Given the description of an element on the screen output the (x, y) to click on. 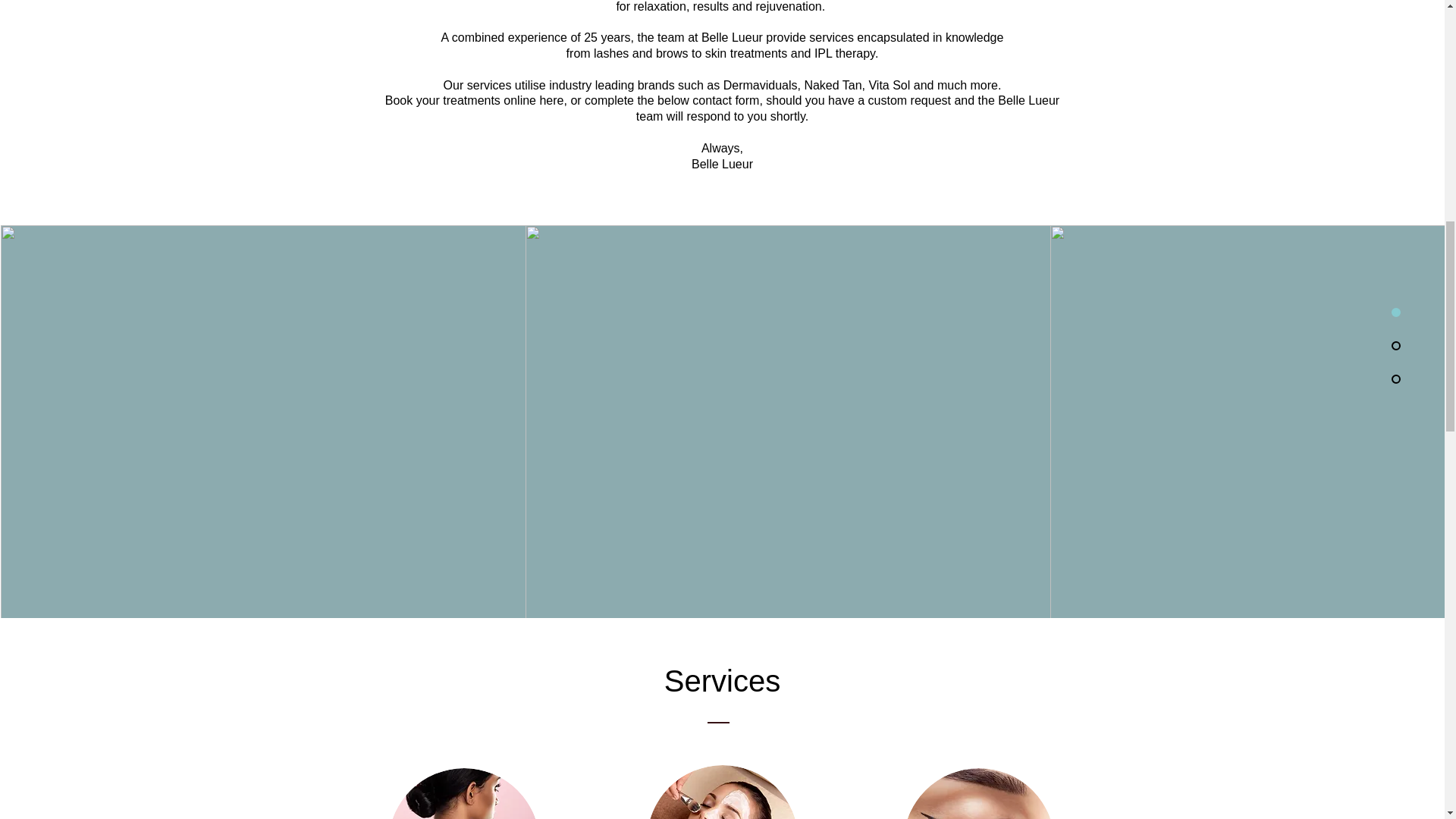
Services (721, 680)
